Given the description of an element on the screen output the (x, y) to click on. 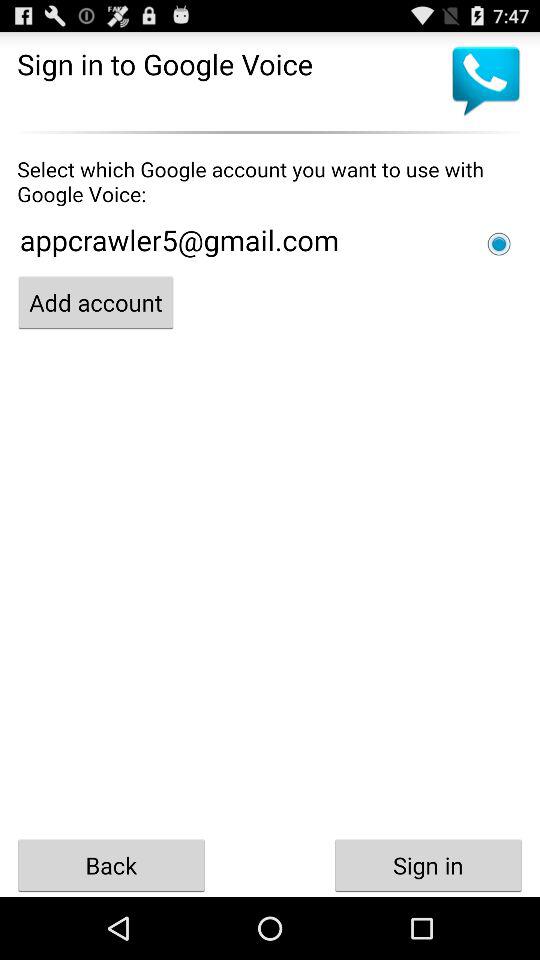
icon page (499, 244)
